Given the description of an element on the screen output the (x, y) to click on. 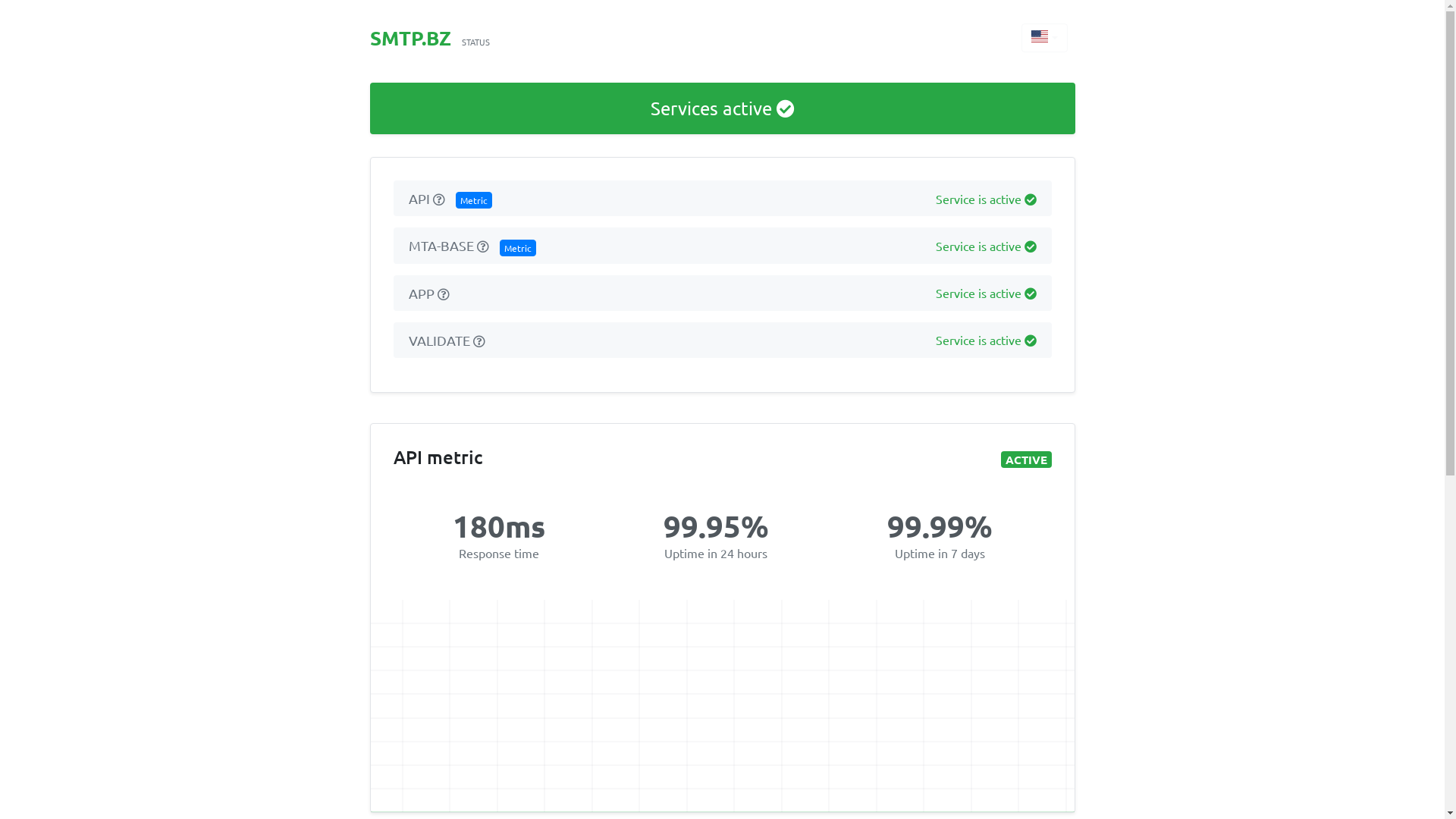
Metric Element type: text (516, 247)
Metric Element type: text (473, 199)
SMTP.BZ STATUS Element type: text (429, 39)
Validate Element type: hover (479, 341)
API server Element type: hover (438, 199)
Mail server Element type: hover (482, 246)
Client panel Element type: hover (442, 294)
